Given the description of an element on the screen output the (x, y) to click on. 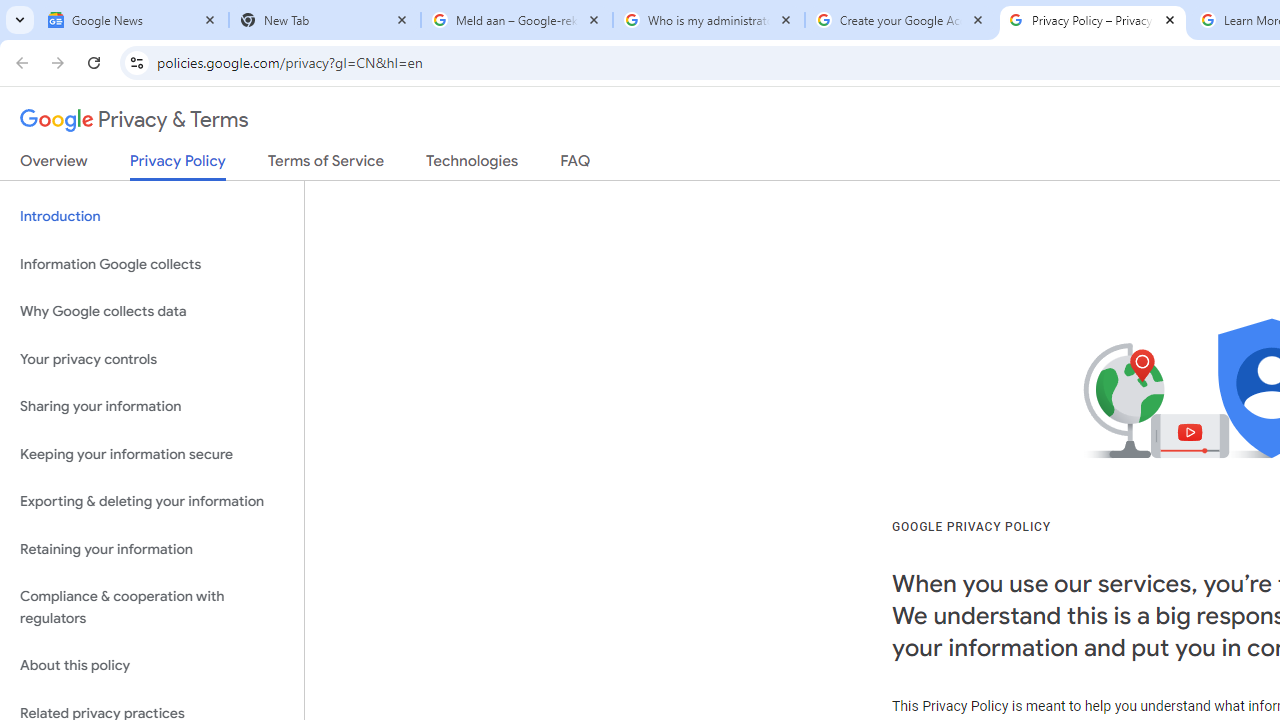
Compliance & cooperation with regulators (152, 607)
Introduction (152, 216)
Retaining your information (152, 548)
New Tab (325, 20)
Information Google collects (152, 263)
Sharing your information (152, 407)
